Given the description of an element on the screen output the (x, y) to click on. 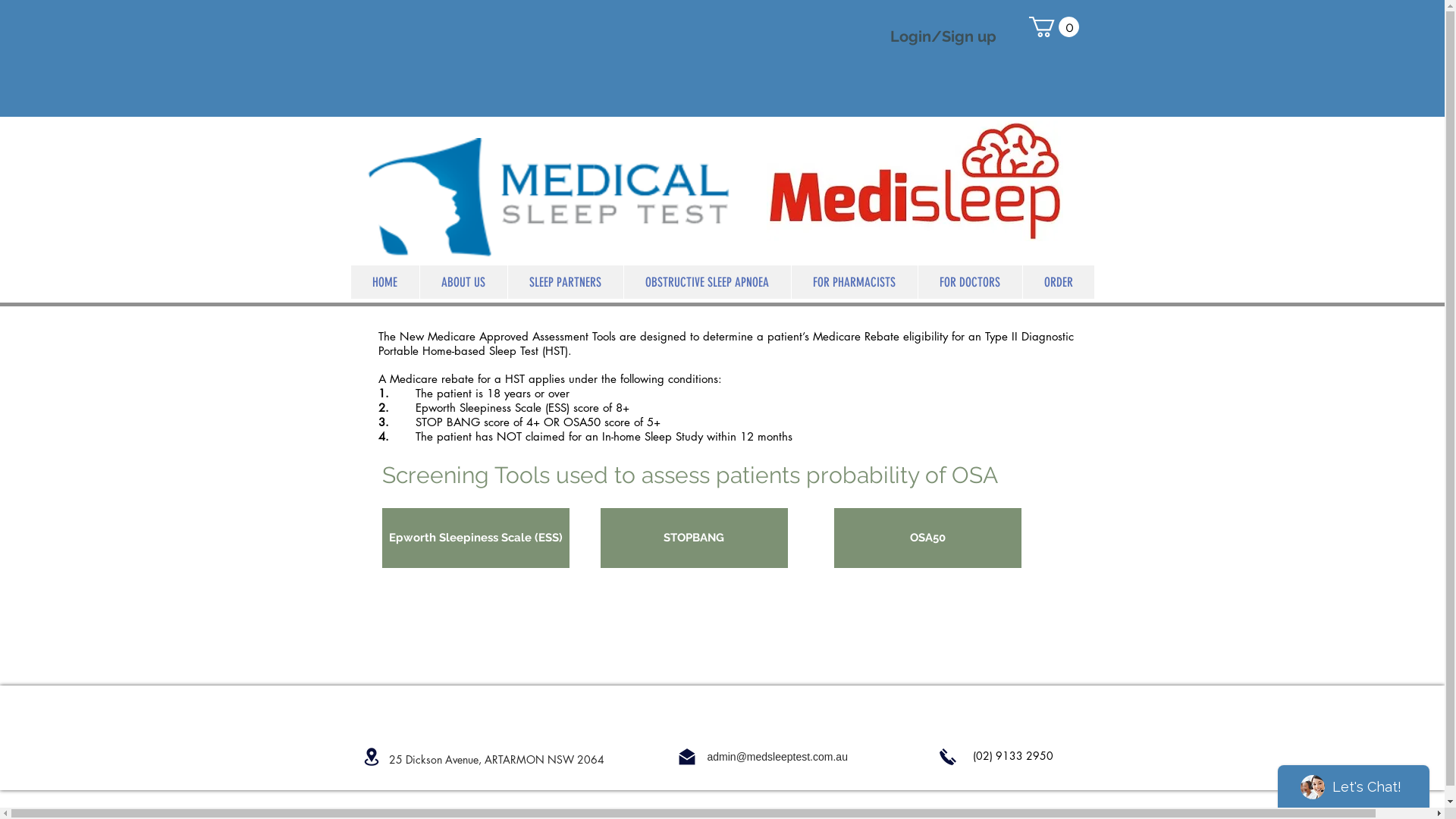
ORDER Element type: text (1058, 281)
STOPBANG Element type: text (693, 537)
SLEEP PARTNERS Element type: text (564, 281)
Wix Chat Element type: hover (1357, 782)
admin@medsleeptest.com.au Element type: text (776, 756)
Epworth Sleepiness Scale (ESS) Element type: text (475, 537)
FOR DOCTORS Element type: text (969, 281)
OSA50 Element type: text (927, 537)
OBSTRUCTIVE SLEEP APNOEA Element type: text (706, 281)
HOME Element type: text (384, 281)
0 Element type: text (1053, 26)
Login/Sign up Element type: text (942, 36)
FOR PHARMACISTS Element type: text (853, 281)
ABOUT US Element type: text (462, 281)
